Given the description of an element on the screen output the (x, y) to click on. 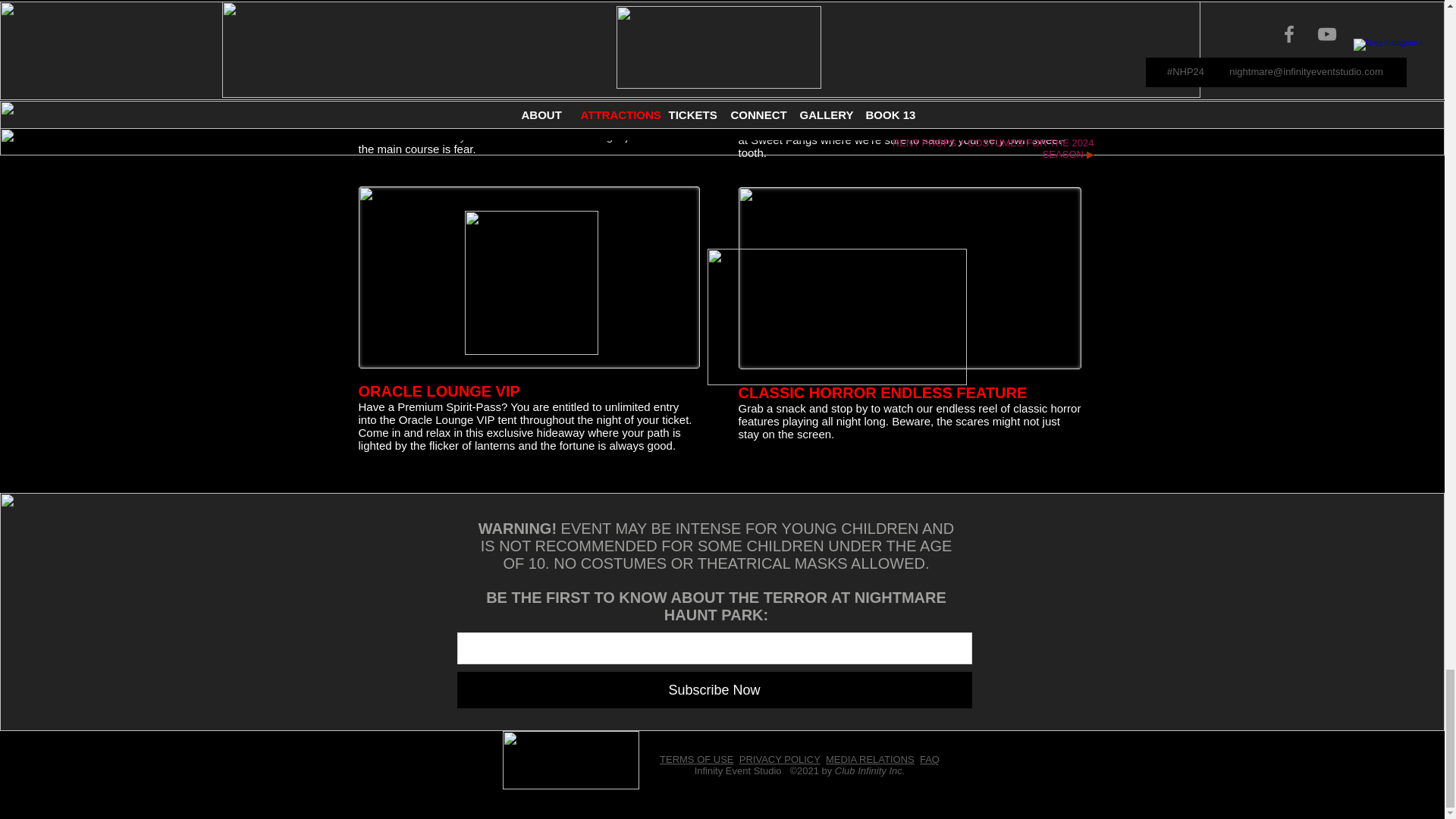
MEDIA RELATIONS (869, 758)
TERMS OF USE (696, 758)
Subscribe Now (714, 689)
FAQ (929, 758)
beastro1.png (457, 48)
PRIVACY POLICY (780, 758)
Infinity Event Studio (737, 770)
